Given the description of an element on the screen output the (x, y) to click on. 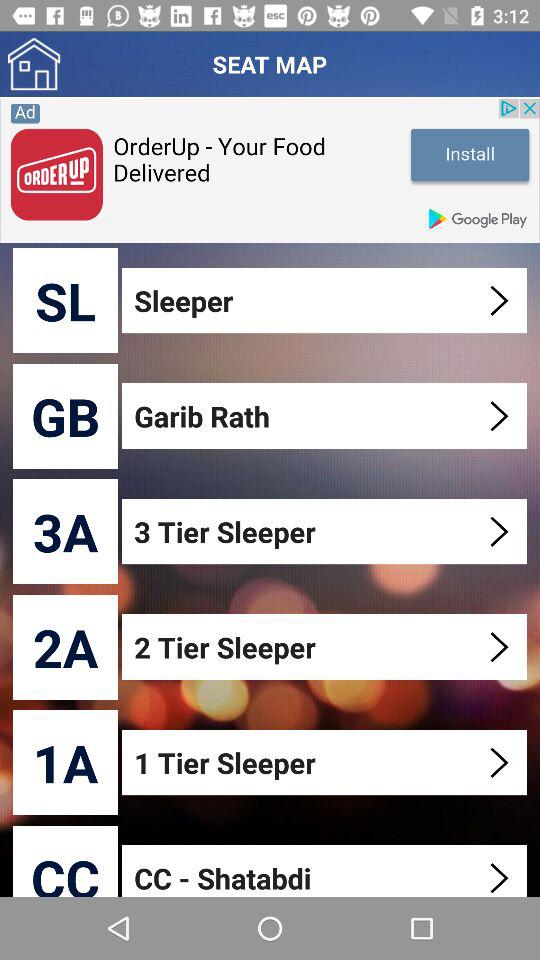
launch item above 3 tier sleeper item (326, 415)
